Given the description of an element on the screen output the (x, y) to click on. 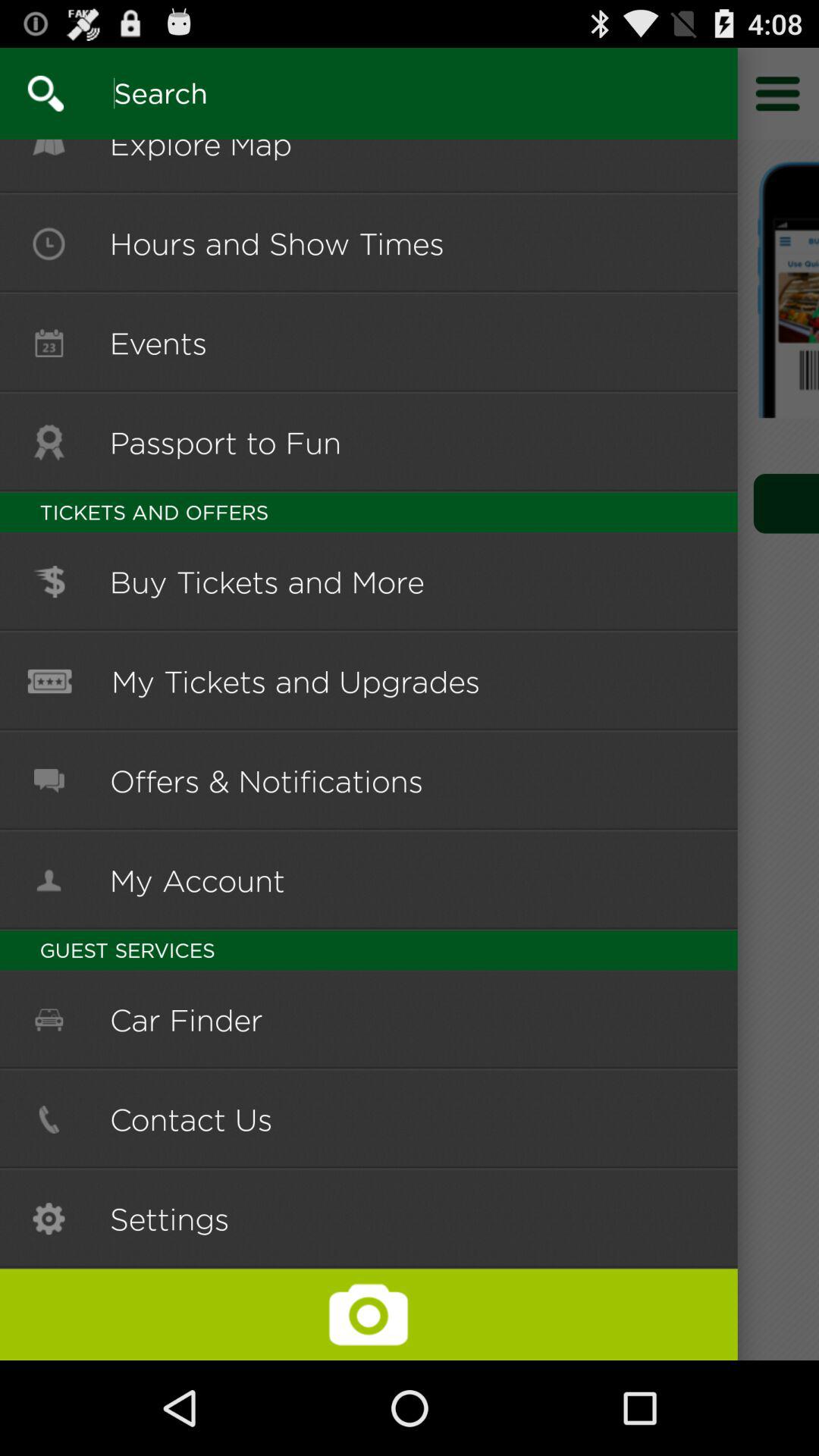
go to search (359, 92)
